Given the description of an element on the screen output the (x, y) to click on. 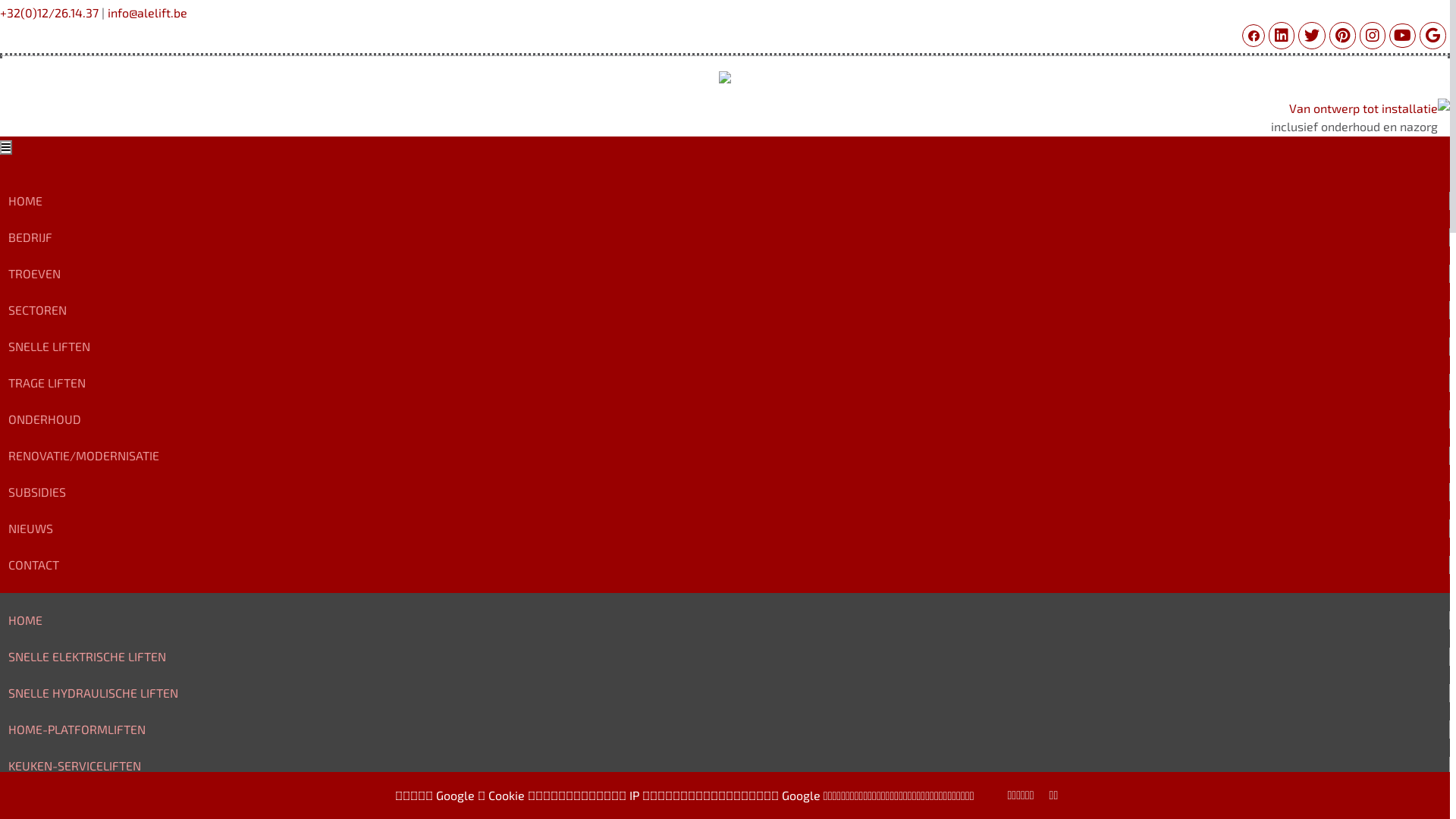
BEDRIJF Element type: text (30, 236)
TRAGE LIFTEN Element type: text (46, 382)
SNELLE HYDRAULISCHE LIFTEN Element type: text (93, 692)
NIEUWS Element type: text (30, 527)
SNELLE LIFTEN Element type: text (49, 345)
RENOVATIE/MODERNISATIE Element type: text (83, 455)
HOME Element type: text (25, 619)
ONDERHOUD Element type: text (44, 418)
TROEVEN Element type: text (34, 273)
KEUKEN-SERVICELIFTEN Element type: text (74, 765)
SUBSIDIES Element type: text (37, 491)
CONTACT Element type: text (33, 564)
+32(0)12/26.14.37 Element type: text (49, 12)
GOEDERENLIFTEN Element type: text (57, 801)
SECTOREN Element type: text (37, 309)
HOME-PLATFORMLIFTEN Element type: text (76, 728)
info@alelift.be Element type: text (147, 12)
HOME Element type: text (25, 200)
SNELLE ELEKTRISCHE LIFTEN Element type: text (87, 656)
